Given the description of an element on the screen output the (x, y) to click on. 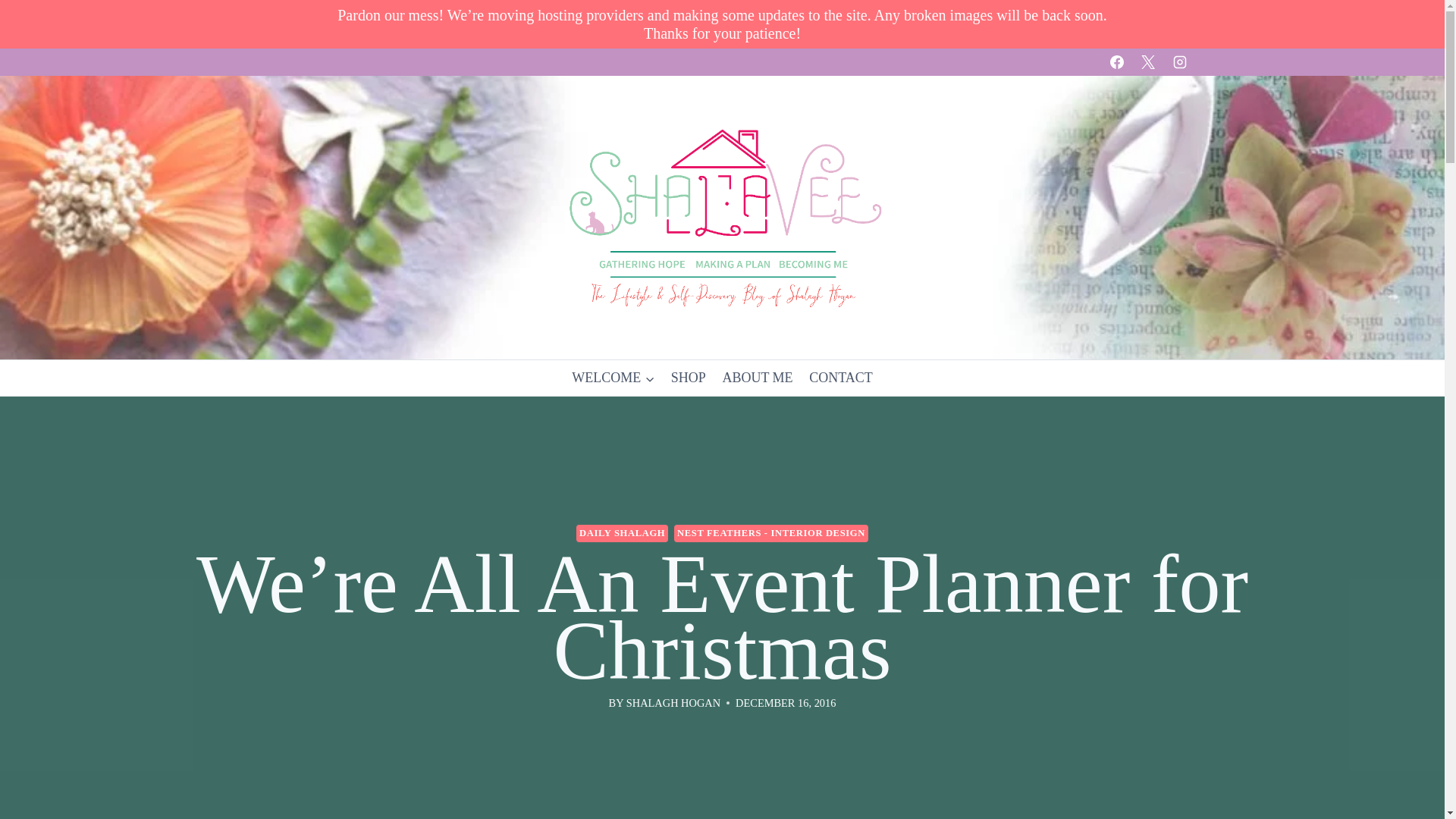
WELCOME (612, 377)
DAILY SHALAGH (622, 533)
NEST FEATHERS - INTERIOR DESIGN (770, 533)
SHOP (688, 377)
ABOUT ME (758, 377)
CONTACT (840, 377)
